Given the description of an element on the screen output the (x, y) to click on. 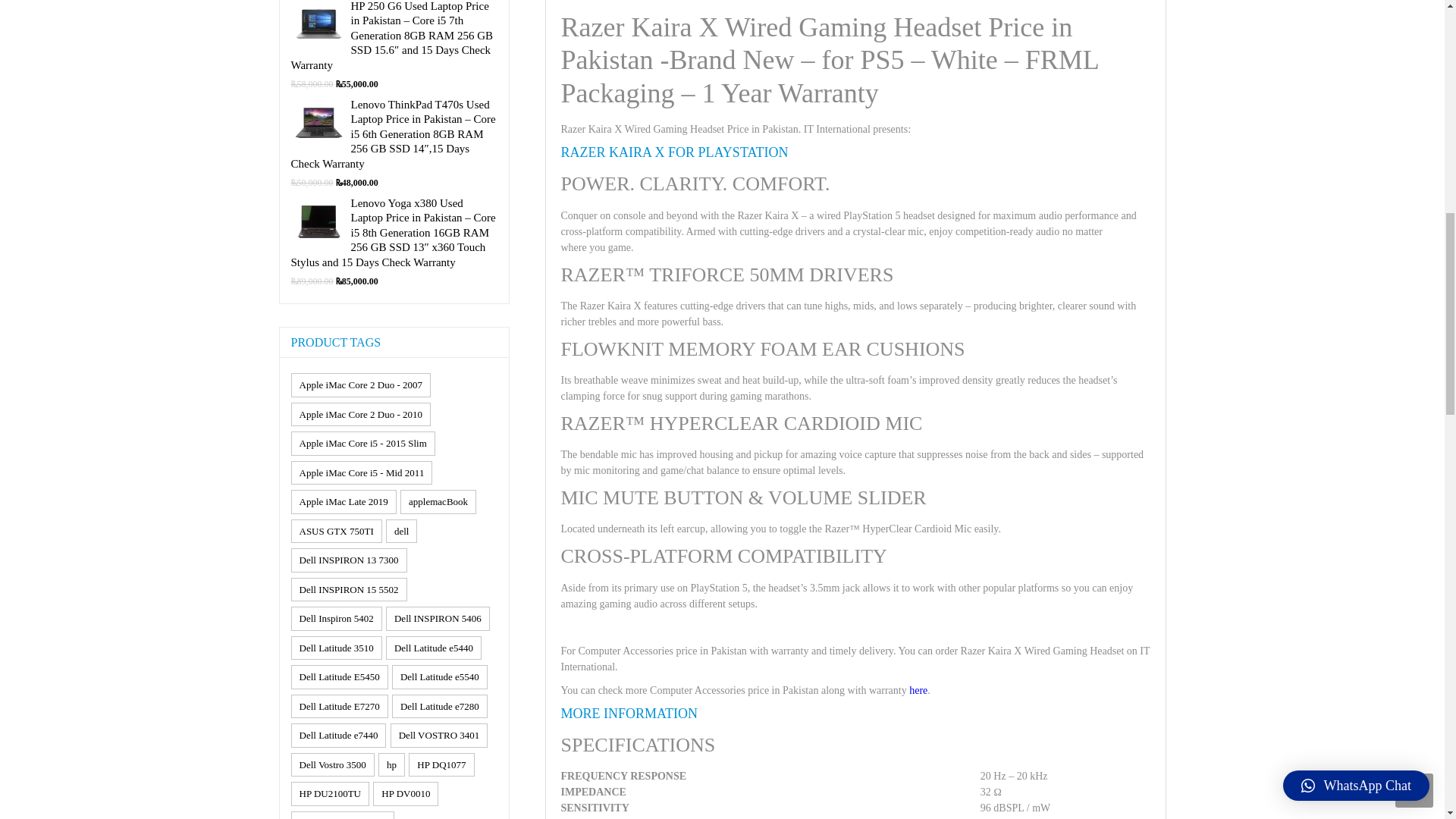
here (917, 689)
